Given the description of an element on the screen output the (x, y) to click on. 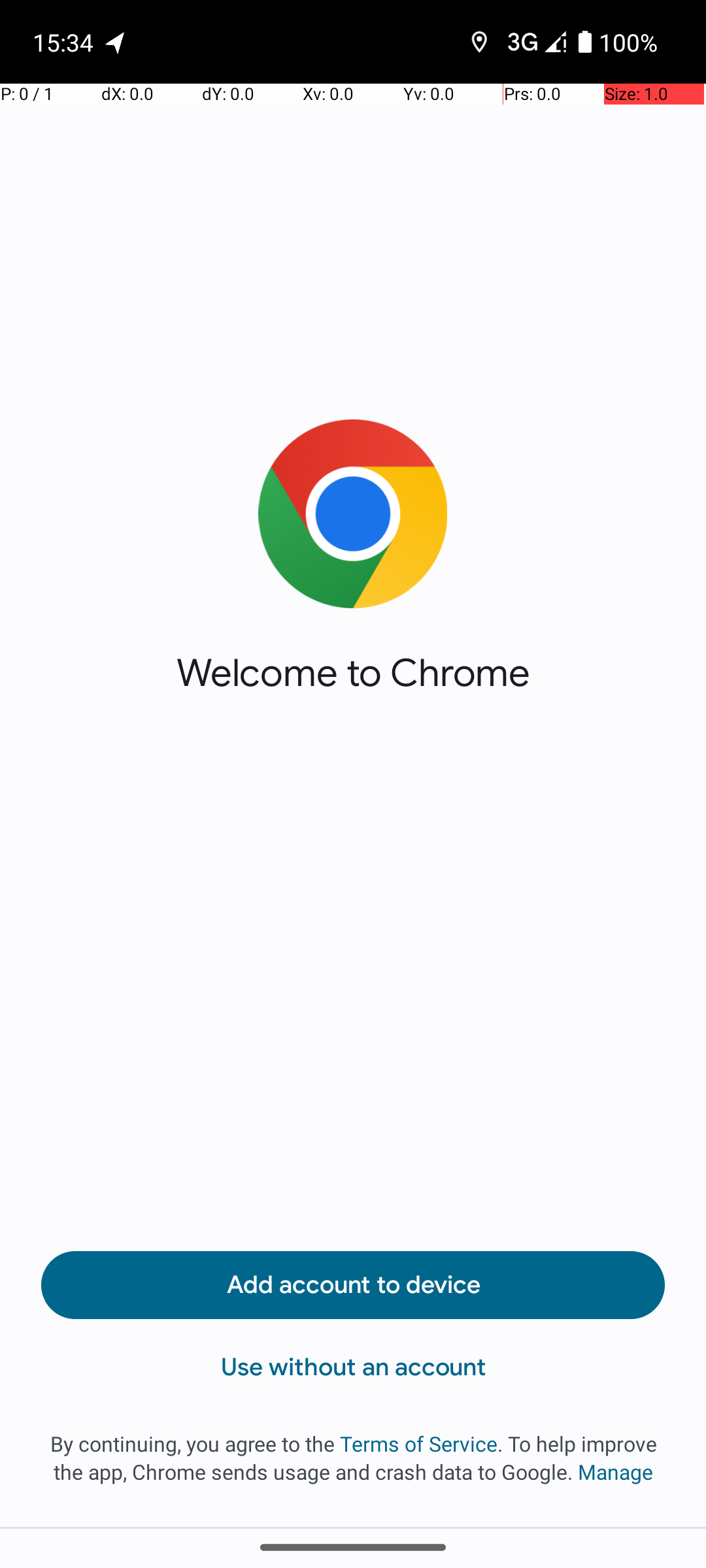
Welcome to Chrome Element type: android.widget.TextView (353, 673)
OpenTracks notification: Distance: 0.00 ft Element type: android.widget.ImageView (115, 41)
Location requests active Element type: android.widget.ImageView (479, 41)
